Given the description of an element on the screen output the (x, y) to click on. 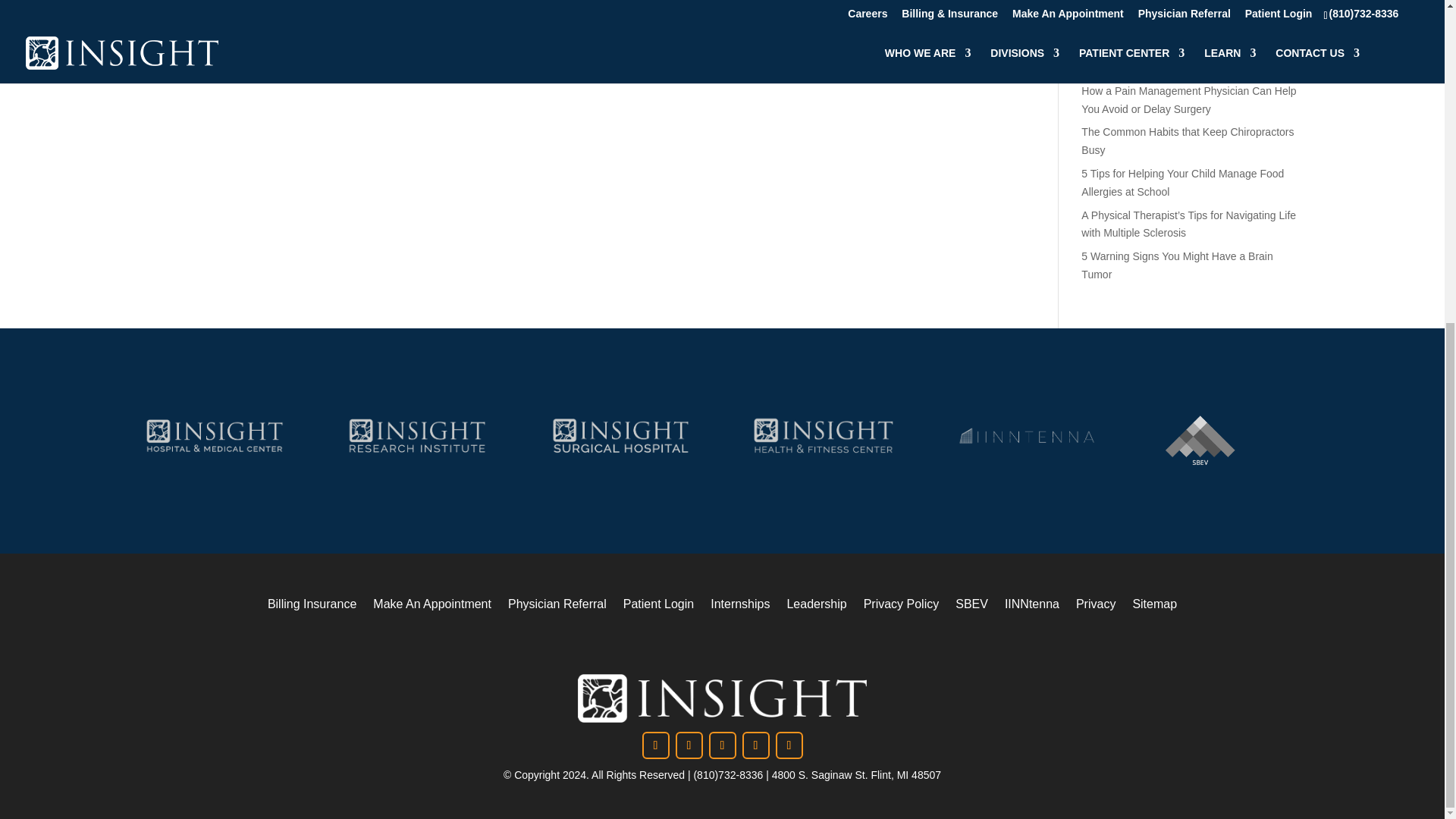
2 (1197, 440)
Follow on Facebook (655, 745)
Follow on TikTok (754, 745)
Follow on LinkedIn (721, 745)
Research Institue (416, 435)
Follow on Instagram (688, 745)
Follow on Youtube (788, 745)
Iinntenna (1026, 435)
logo health (823, 435)
Insight-Logo-White (722, 698)
